Given the description of an element on the screen output the (x, y) to click on. 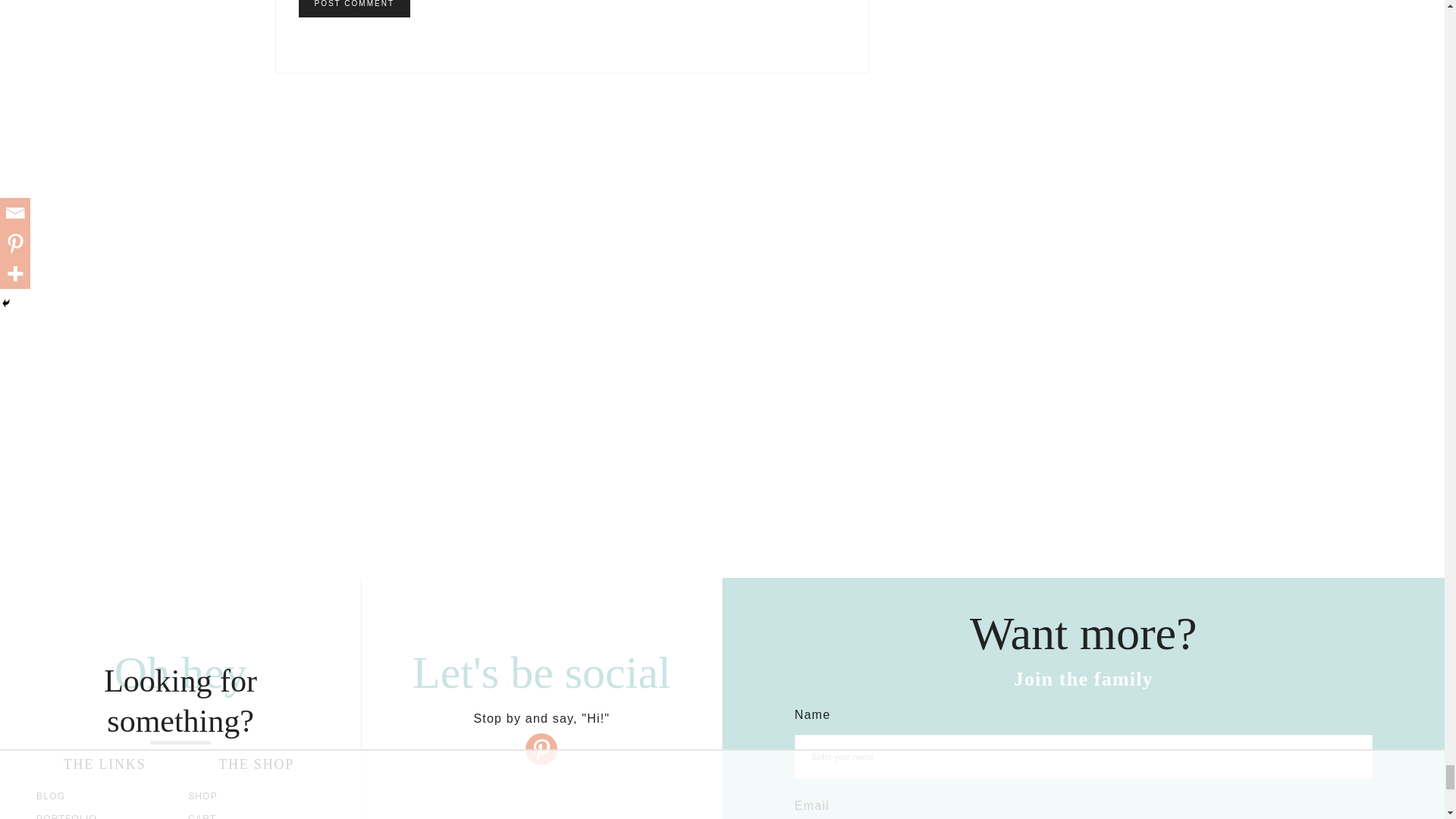
Post Comment (354, 8)
